Given the description of an element on the screen output the (x, y) to click on. 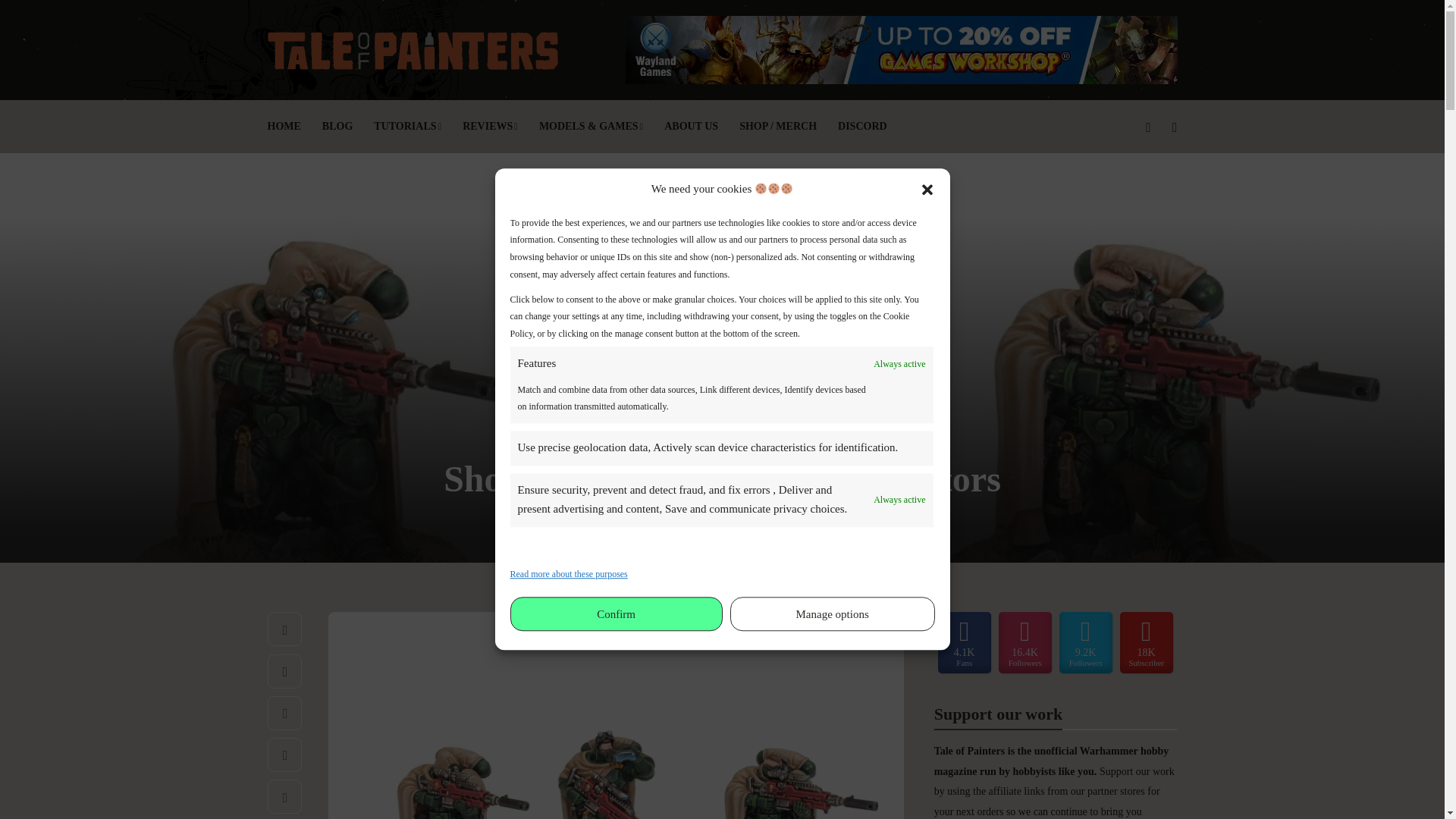
Read more about these purposes (568, 573)
Manage options (832, 614)
Confirm (615, 614)
